Given the description of an element on the screen output the (x, y) to click on. 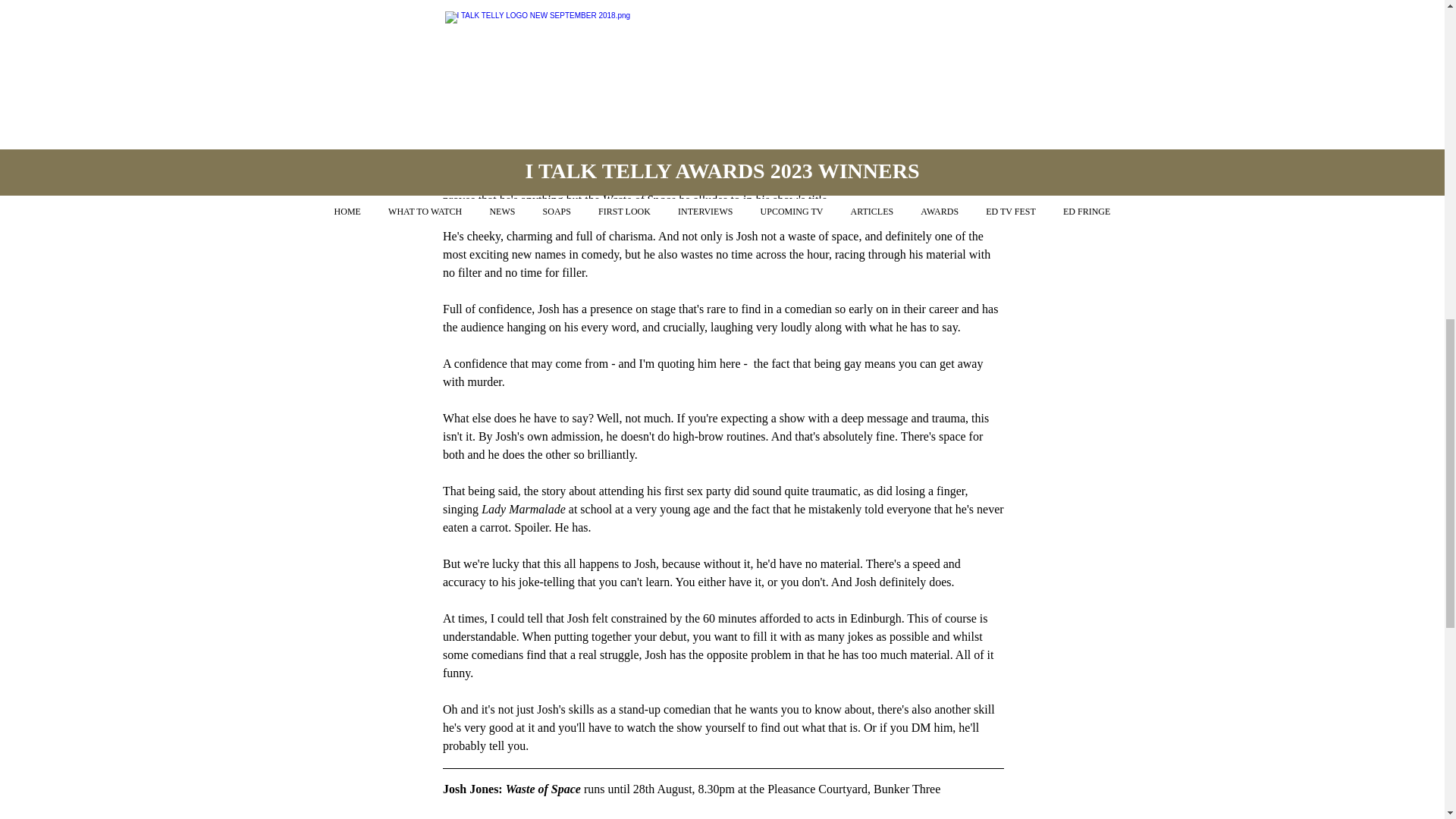
Waste of Space  (544, 788)
Josh Jones:  (473, 788)
